Given the description of an element on the screen output the (x, y) to click on. 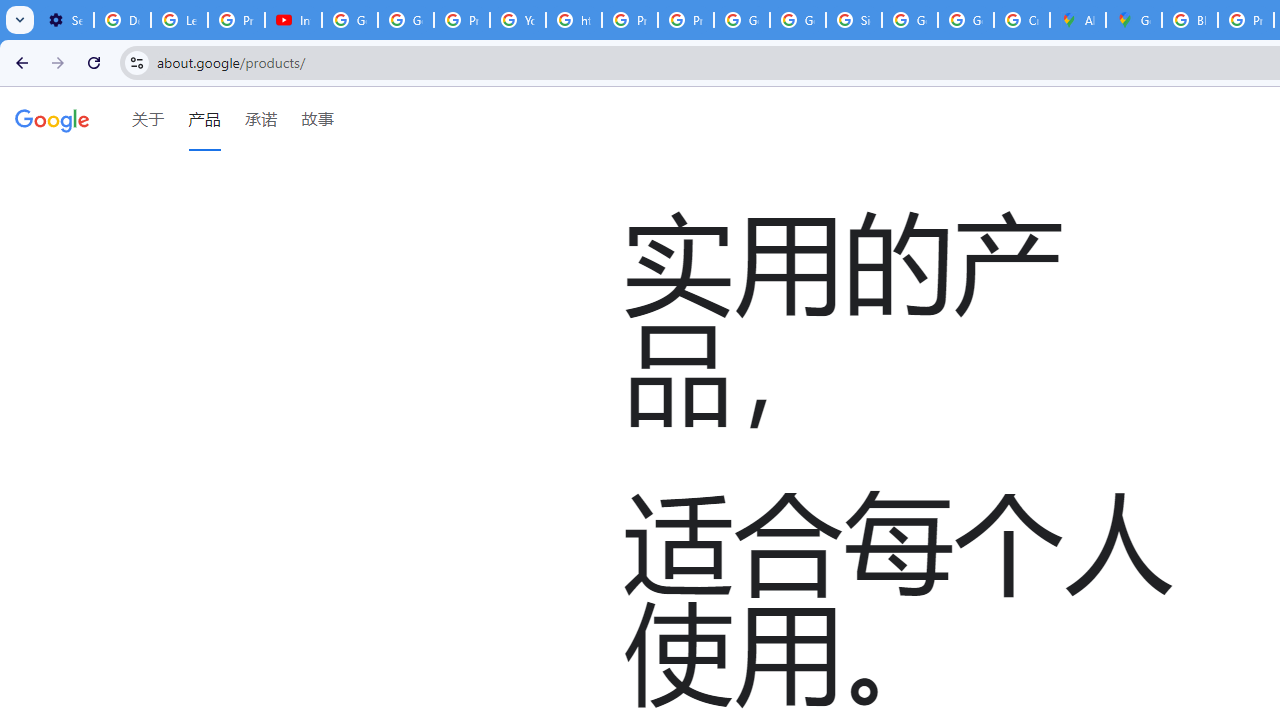
Settings - Customize profile (65, 20)
Google Maps (1133, 20)
